Given the description of an element on the screen output the (x, y) to click on. 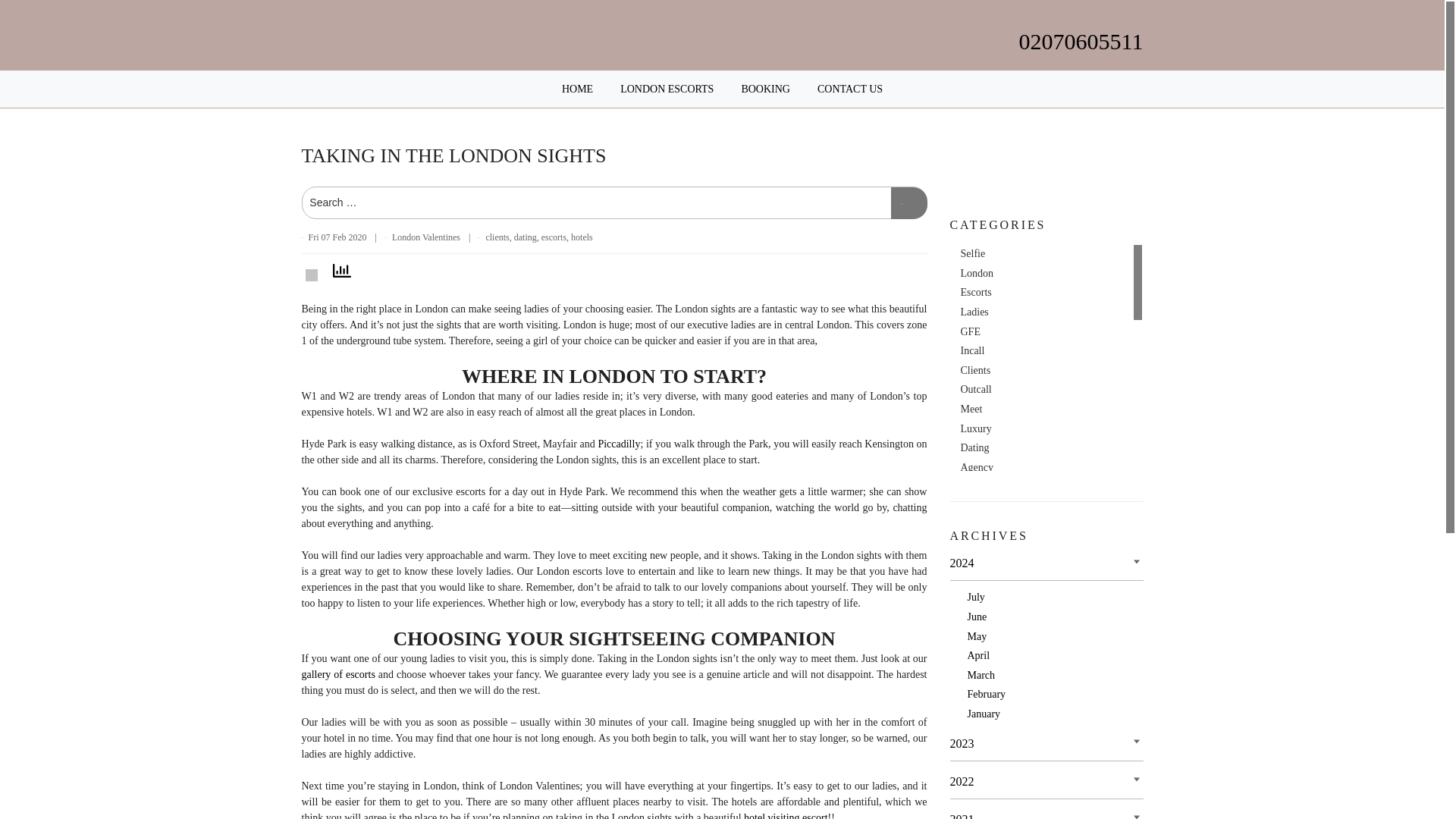
Fri 07 Feb 2020 (336, 236)
hotels (581, 236)
CONTACT US (849, 89)
LONDON ESCORTS (666, 89)
dating (525, 236)
hotel visiting escort (785, 815)
BOOKING (765, 89)
Piccadilly (618, 443)
gallery of escorts (338, 674)
Search (907, 203)
02070605511 (1080, 41)
escorts (553, 236)
clients (496, 236)
HOME (577, 89)
